Given the description of an element on the screen output the (x, y) to click on. 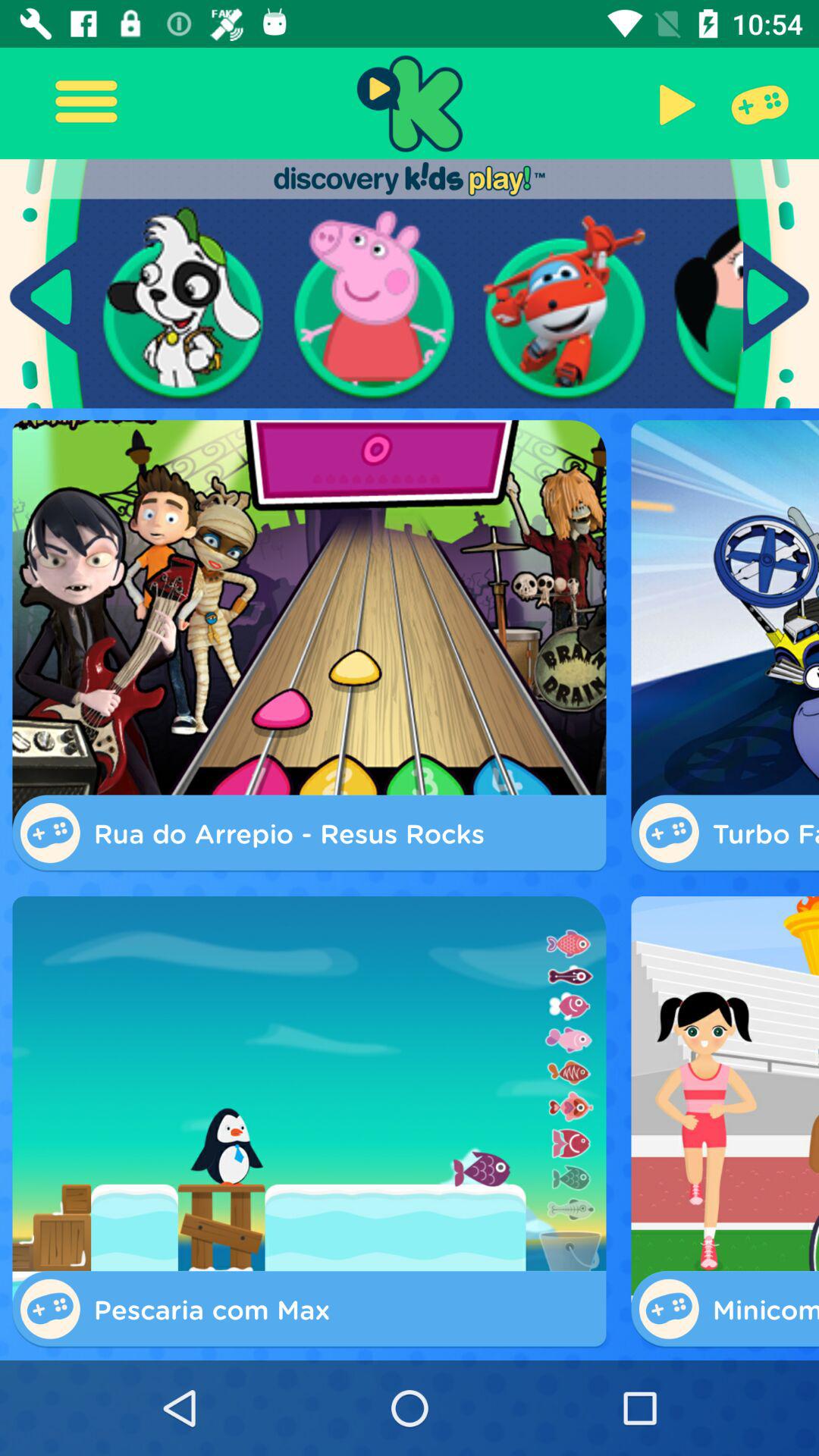
click on the image which is in 1st row 2nd column (374, 304)
